Given the description of an element on the screen output the (x, y) to click on. 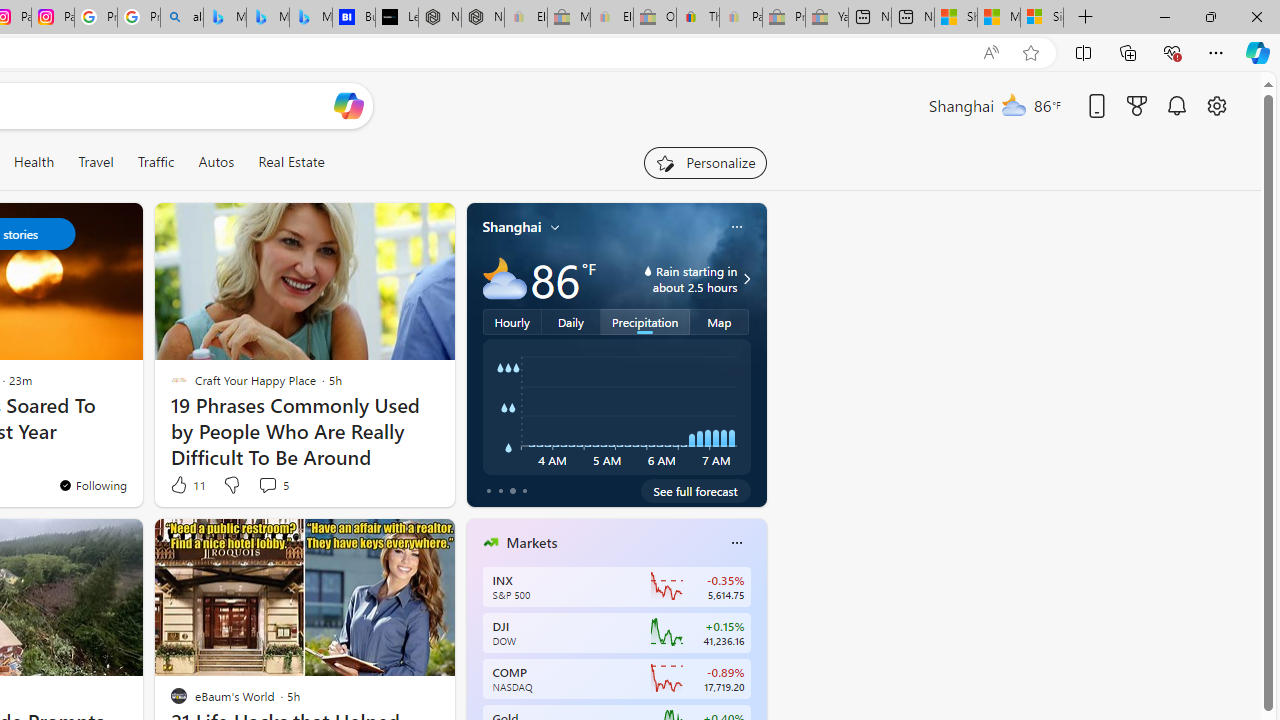
You're following MSNBC (390, 490)
Class: icon-img (736, 542)
Class: weather-arrow-glyph (746, 278)
water-drop-icon (648, 270)
